Given the description of an element on the screen output the (x, y) to click on. 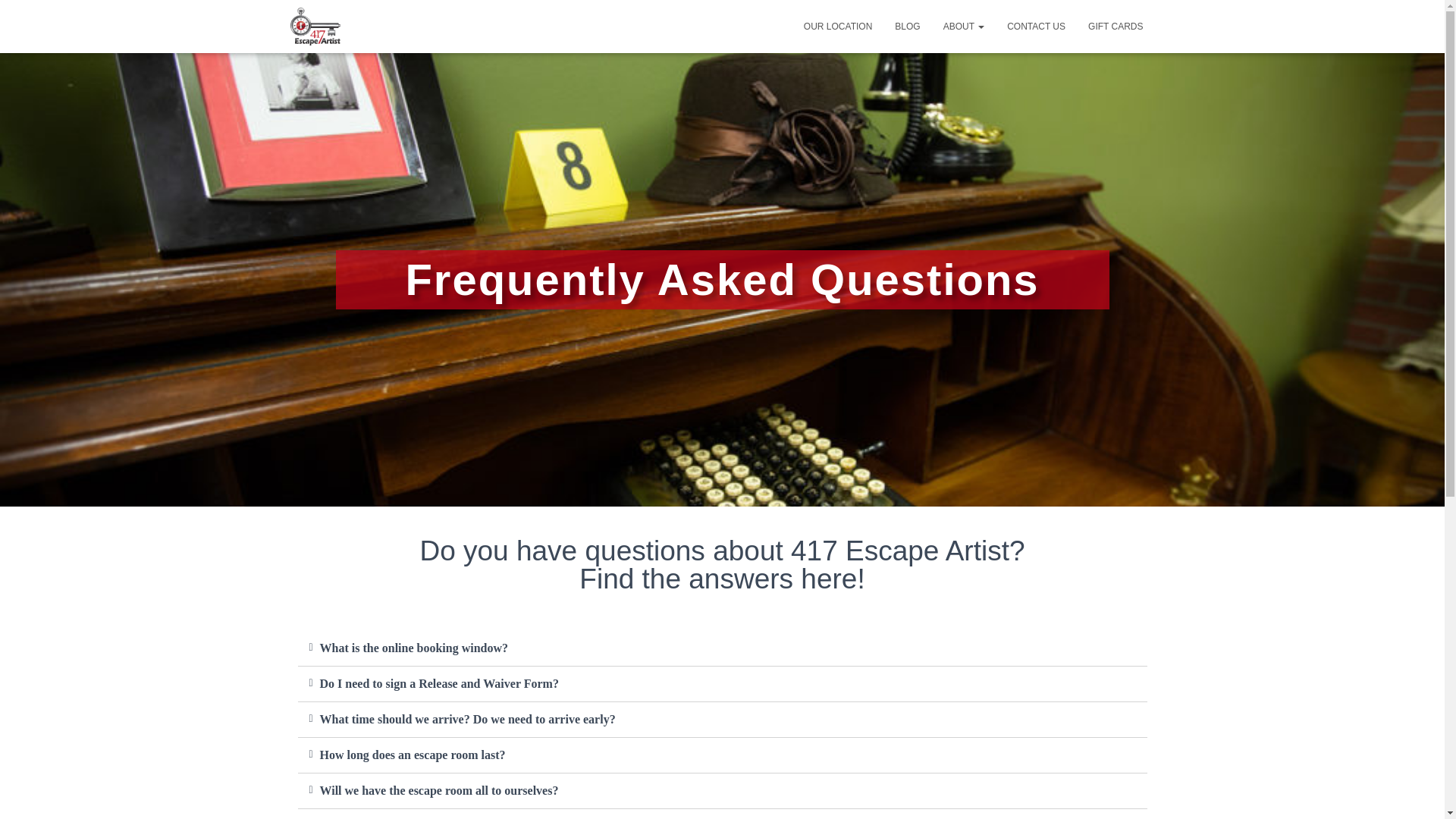
BLOG (907, 26)
CONTACT US (1036, 26)
Blog (907, 26)
GIFT CARDS (1115, 26)
Will we have the escape room all to ourselves? (439, 789)
Our Location (837, 26)
ABOUT (963, 26)
What is the online booking window? (414, 647)
What time should we arrive? Do we need to arrive early? (467, 718)
Contact Us (1036, 26)
Do I need to sign a Release and Waiver Form? (439, 683)
How long does an escape room last? (412, 754)
About (963, 26)
OUR LOCATION (837, 26)
417 Escape Artist (315, 26)
